Given the description of an element on the screen output the (x, y) to click on. 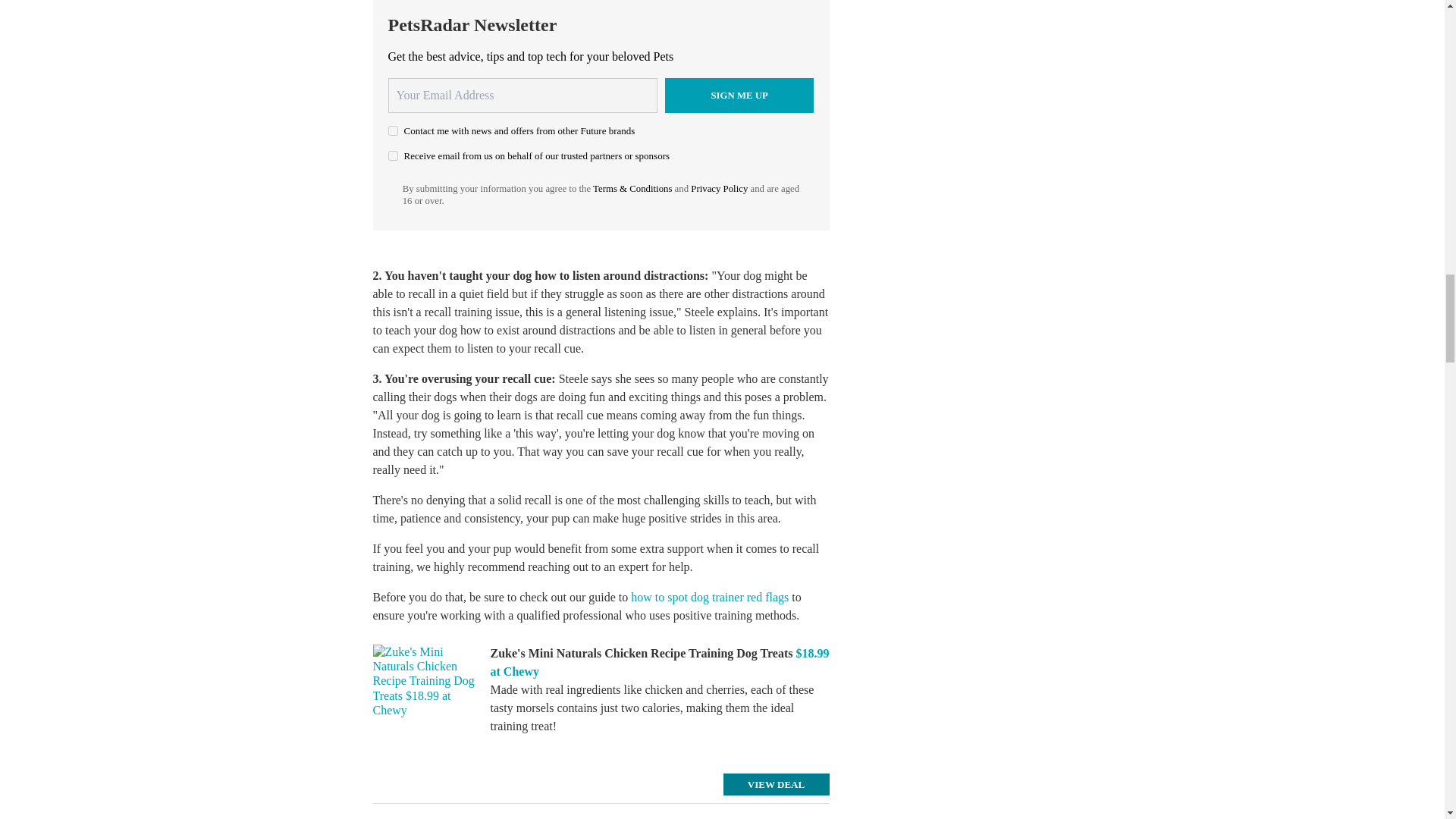
on (392, 155)
on (392, 130)
Sign me up (739, 95)
